Given the description of an element on the screen output the (x, y) to click on. 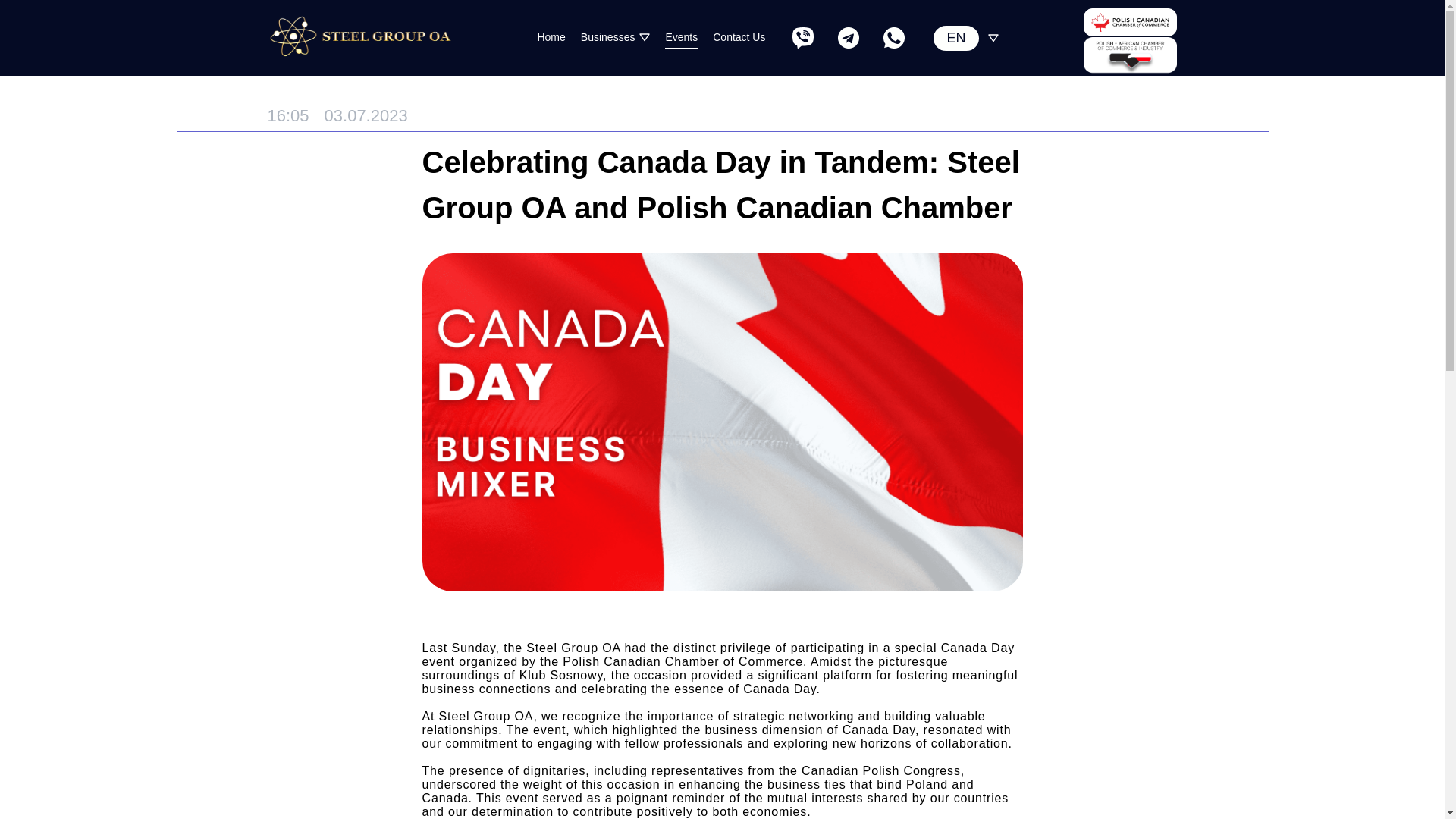
Businesses (607, 36)
Home (550, 37)
EN (955, 38)
Contact Us (739, 37)
Events (681, 37)
